Given the description of an element on the screen output the (x, y) to click on. 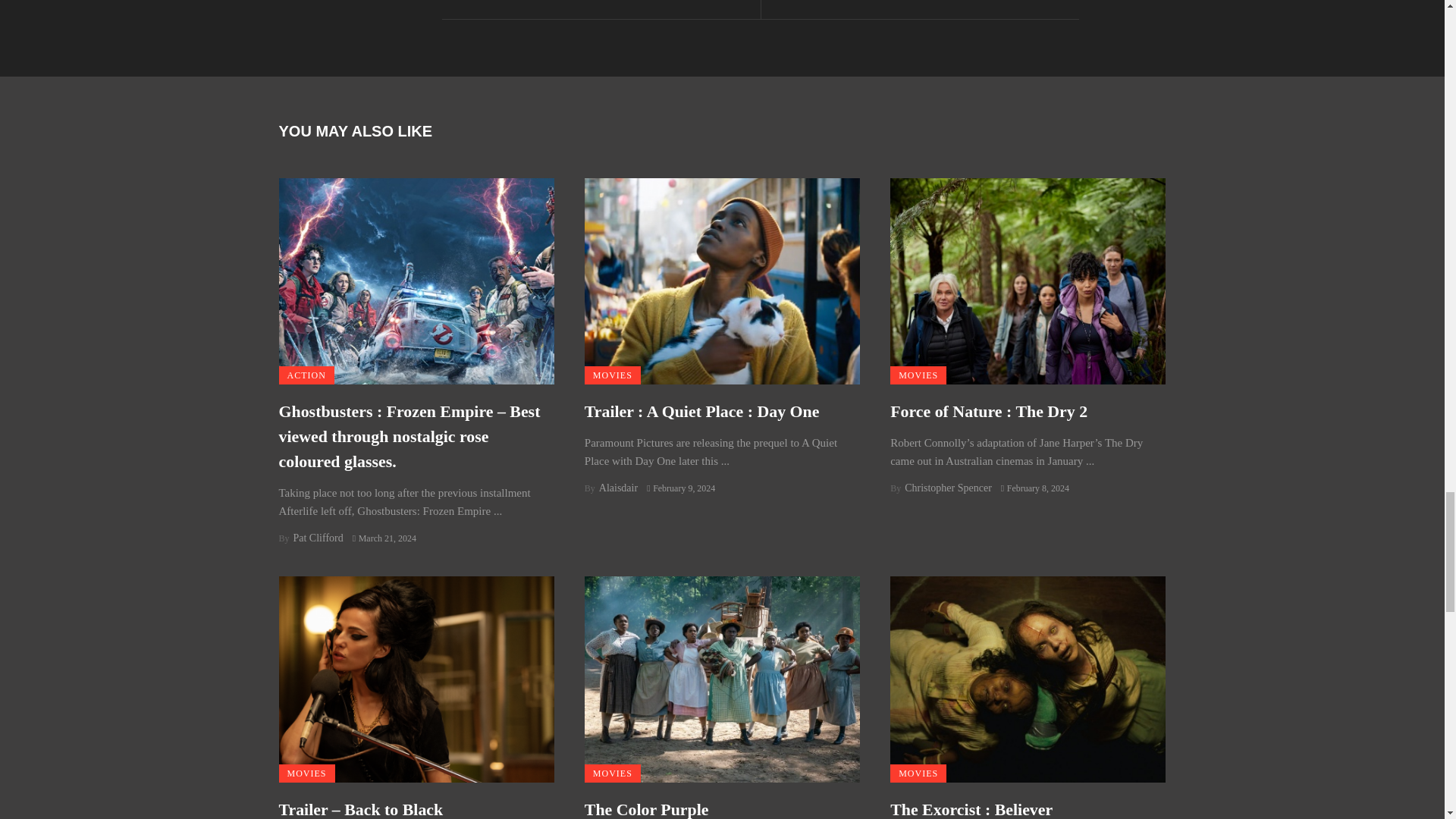
February 9, 2024 at 6:52 pm (680, 488)
February 8, 2024 at 2:54 pm (1034, 488)
March 21, 2024 at 10:03 pm (384, 538)
